Given the description of an element on the screen output the (x, y) to click on. 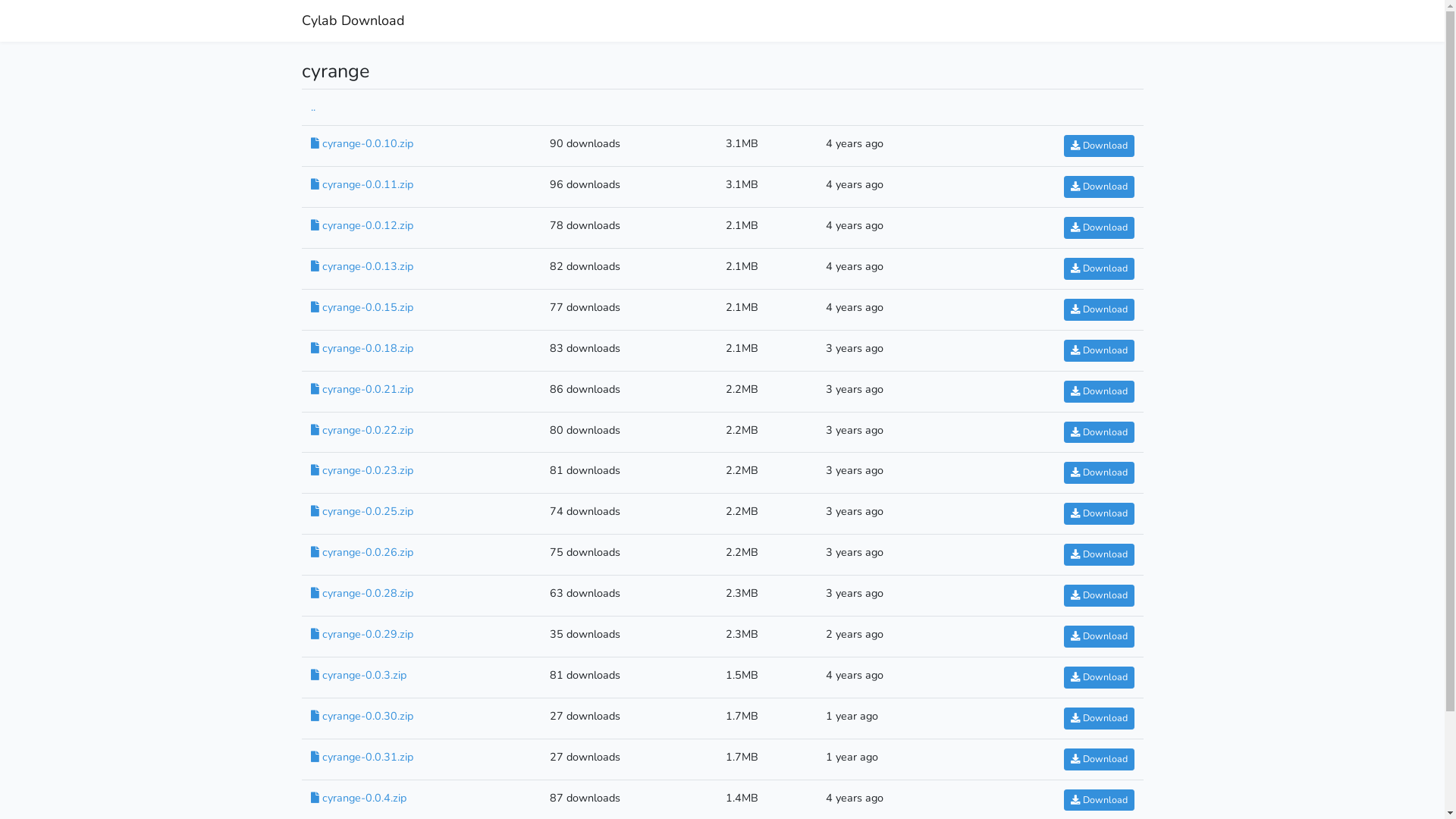
cyrange-0.0.23.zip Element type: text (361, 469)
cyrange-0.0.29.zip Element type: text (361, 633)
Download Element type: text (1098, 759)
Download Element type: text (1098, 800)
Download Element type: text (1098, 309)
cyrange-0.0.11.zip Element type: text (361, 183)
Download Element type: text (1098, 636)
Download Element type: text (1098, 595)
Download Element type: text (1098, 677)
.. Element type: text (312, 106)
Download Element type: text (1098, 472)
Download Element type: text (1098, 227)
Download Element type: text (1098, 718)
cyrange-0.0.31.zip Element type: text (361, 756)
cyrange-0.0.26.zip Element type: text (361, 551)
cyrange-0.0.15.zip Element type: text (361, 306)
cyrange-0.0.12.zip Element type: text (361, 224)
Download Element type: text (1098, 513)
Cylab Download Element type: text (352, 20)
cyrange-0.0.25.zip Element type: text (361, 510)
cyrange-0.0.28.zip Element type: text (361, 592)
cyrange-0.0.3.zip Element type: text (358, 674)
Download Element type: text (1098, 145)
cyrange-0.0.10.zip Element type: text (361, 142)
Download Element type: text (1098, 391)
cyrange-0.0.13.zip Element type: text (361, 265)
Download Element type: text (1098, 186)
cyrange-0.0.21.zip Element type: text (361, 388)
Download Element type: text (1098, 350)
Download Element type: text (1098, 268)
Download Element type: text (1098, 432)
Download Element type: text (1098, 554)
cyrange-0.0.22.zip Element type: text (361, 429)
cyrange-0.0.30.zip Element type: text (361, 715)
cyrange-0.0.18.zip Element type: text (361, 347)
cyrange-0.0.4.zip Element type: text (358, 797)
